Given the description of an element on the screen output the (x, y) to click on. 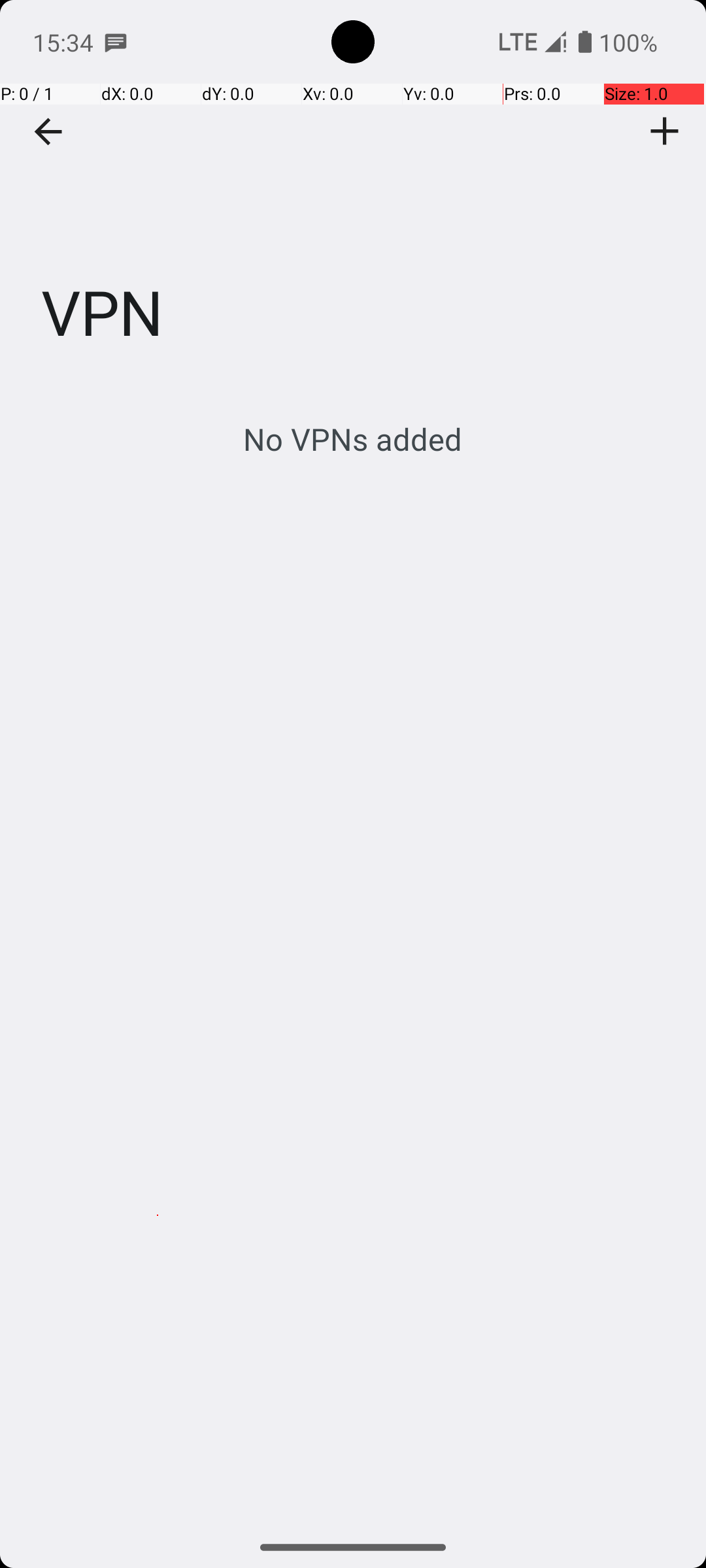
No VPNs added Element type: android.widget.TextView (352, 438)
Add VPN profile Element type: android.widget.TextView (664, 131)
